Given the description of an element on the screen output the (x, y) to click on. 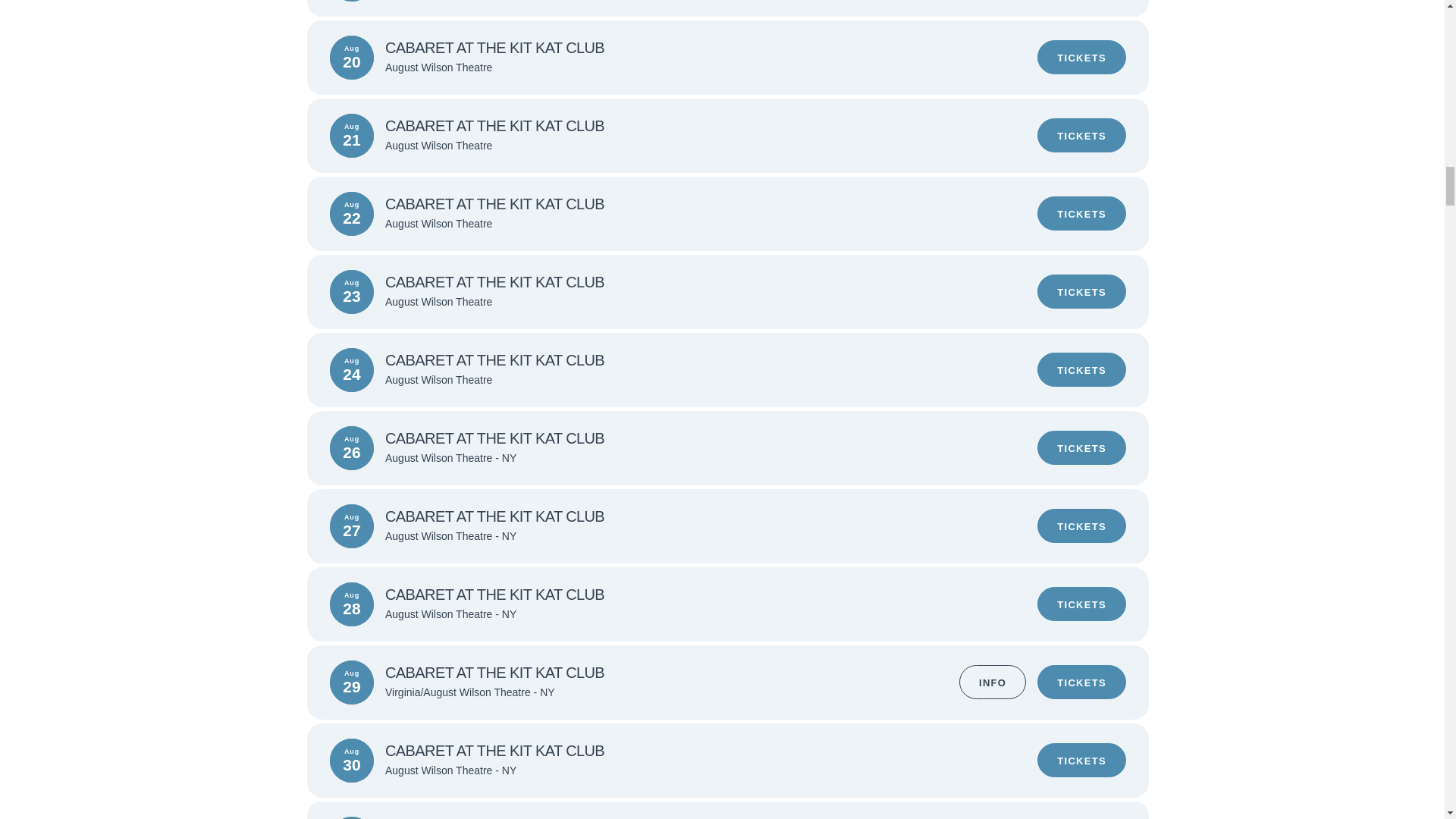
TICKETS (1080, 134)
TICKETS (1080, 213)
TICKETS (1080, 603)
TICKETS (1080, 291)
INFO (992, 682)
TICKETS (1080, 525)
TICKETS (1080, 369)
TICKETS (1080, 759)
TICKETS (1080, 447)
TICKETS (1080, 57)
